Given the description of an element on the screen output the (x, y) to click on. 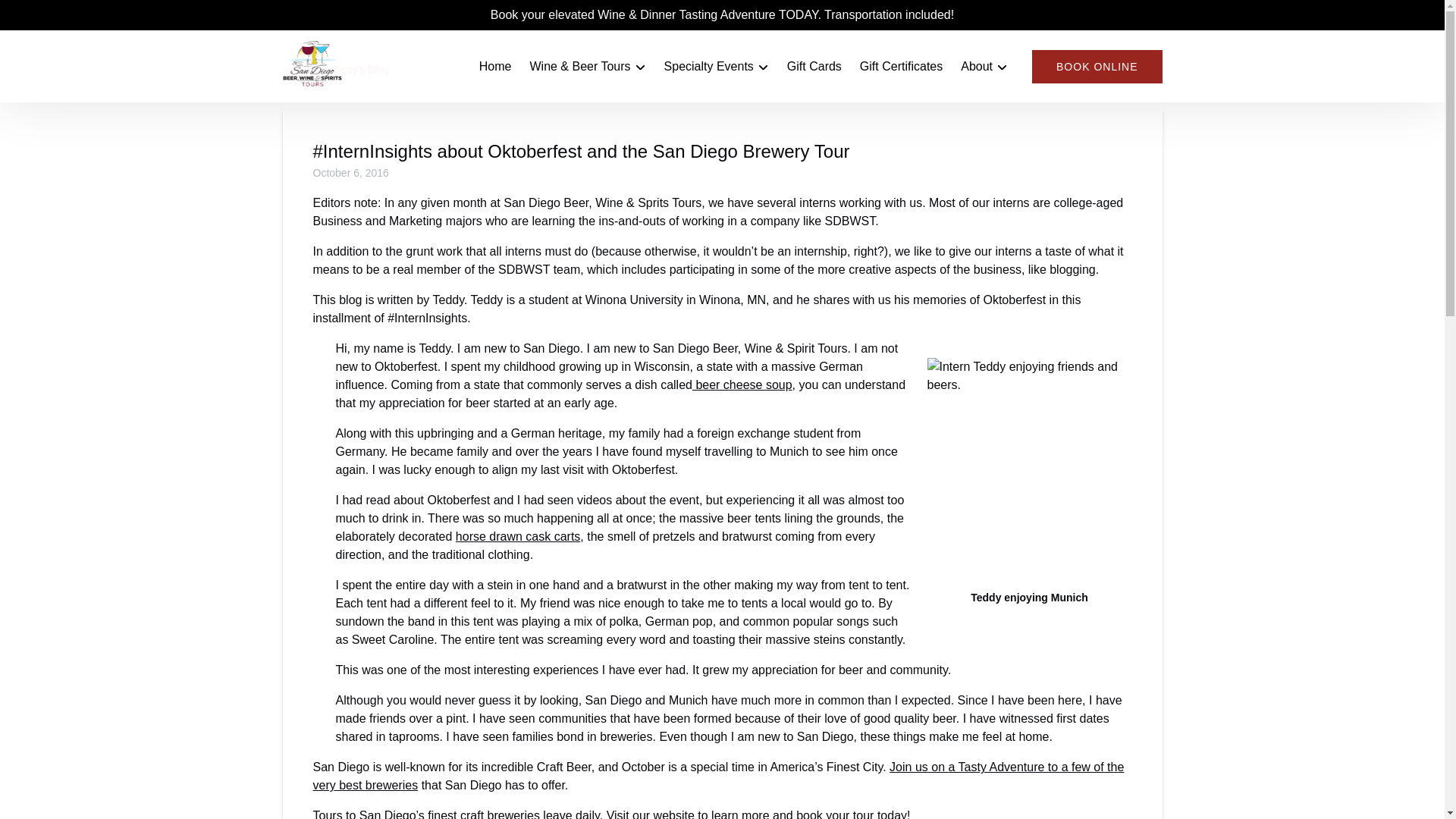
Gift Certificates (901, 66)
Skip to footer (42, 16)
Skip to primary navigation (77, 16)
Specialty Events (716, 66)
Home (495, 66)
About (984, 66)
Open About Menu (987, 62)
Gift Cards (813, 66)
Open Specialty Events Menu (719, 62)
Skip to content (47, 16)
